Given the description of an element on the screen output the (x, y) to click on. 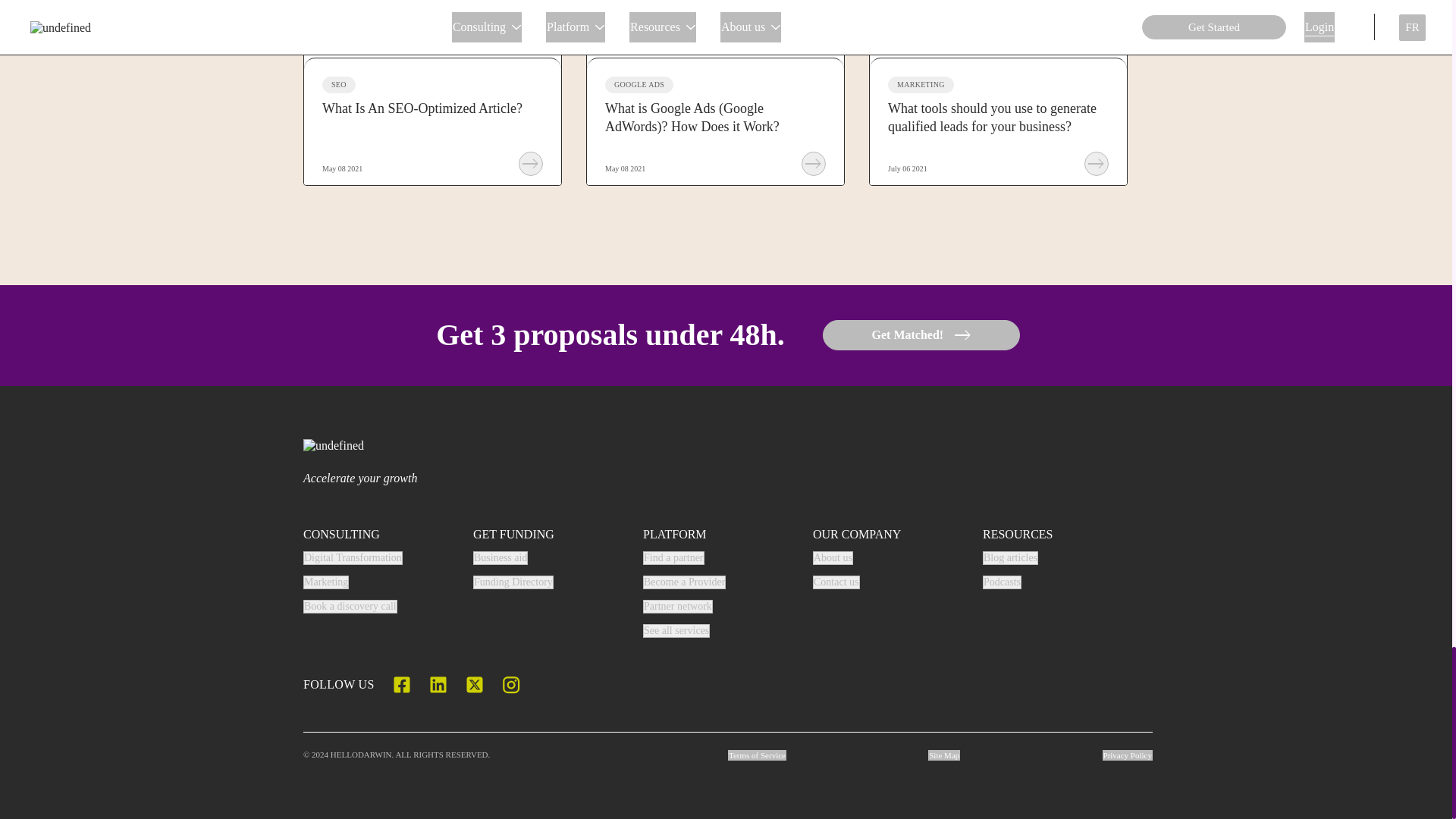
helloDarwin Linkedin (437, 684)
Business aid (558, 558)
Book a discovery call (349, 606)
Partner network (727, 606)
About us (832, 558)
Digital Transformation (387, 558)
Find a partner (673, 558)
Business aid (500, 558)
See all services (727, 631)
Become a Provider (684, 581)
Partner network (444, 92)
Get Matched! (678, 606)
helloDarwin Instagram (921, 335)
